Given the description of an element on the screen output the (x, y) to click on. 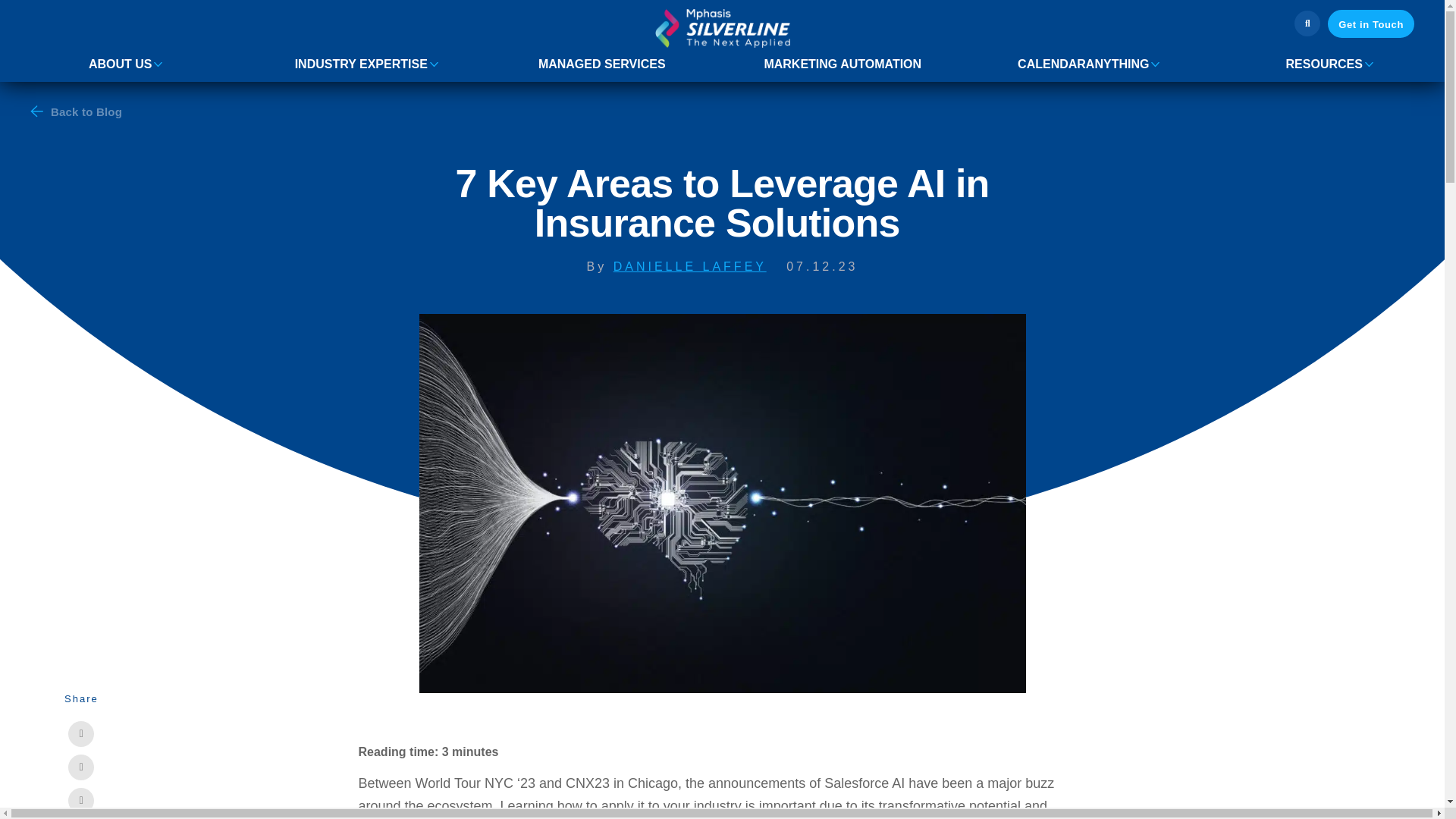
ABOUT US (120, 63)
MARKETING AUTOMATION (841, 63)
CALENDARANYTHING (1082, 63)
Posts by Danielle Laffey (689, 266)
MANAGED SERVICES (601, 63)
INDUSTRY EXPERTISE (361, 63)
Get in Touch (1370, 22)
